Given the description of an element on the screen output the (x, y) to click on. 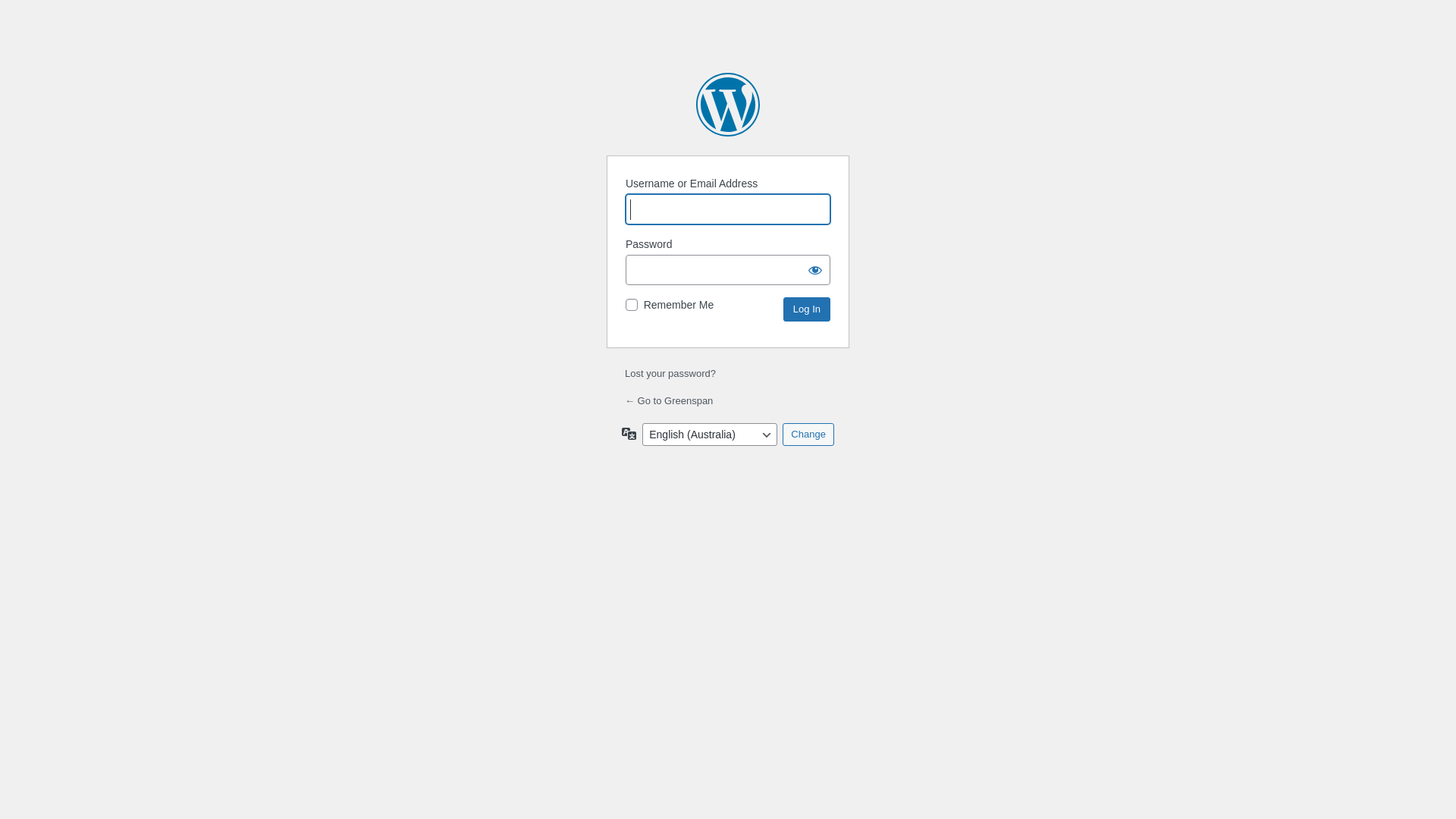
Lost your password? Element type: text (669, 373)
Change Element type: text (808, 434)
Powered by WordPress Element type: text (727, 104)
Log In Element type: text (806, 309)
